Given the description of an element on the screen output the (x, y) to click on. 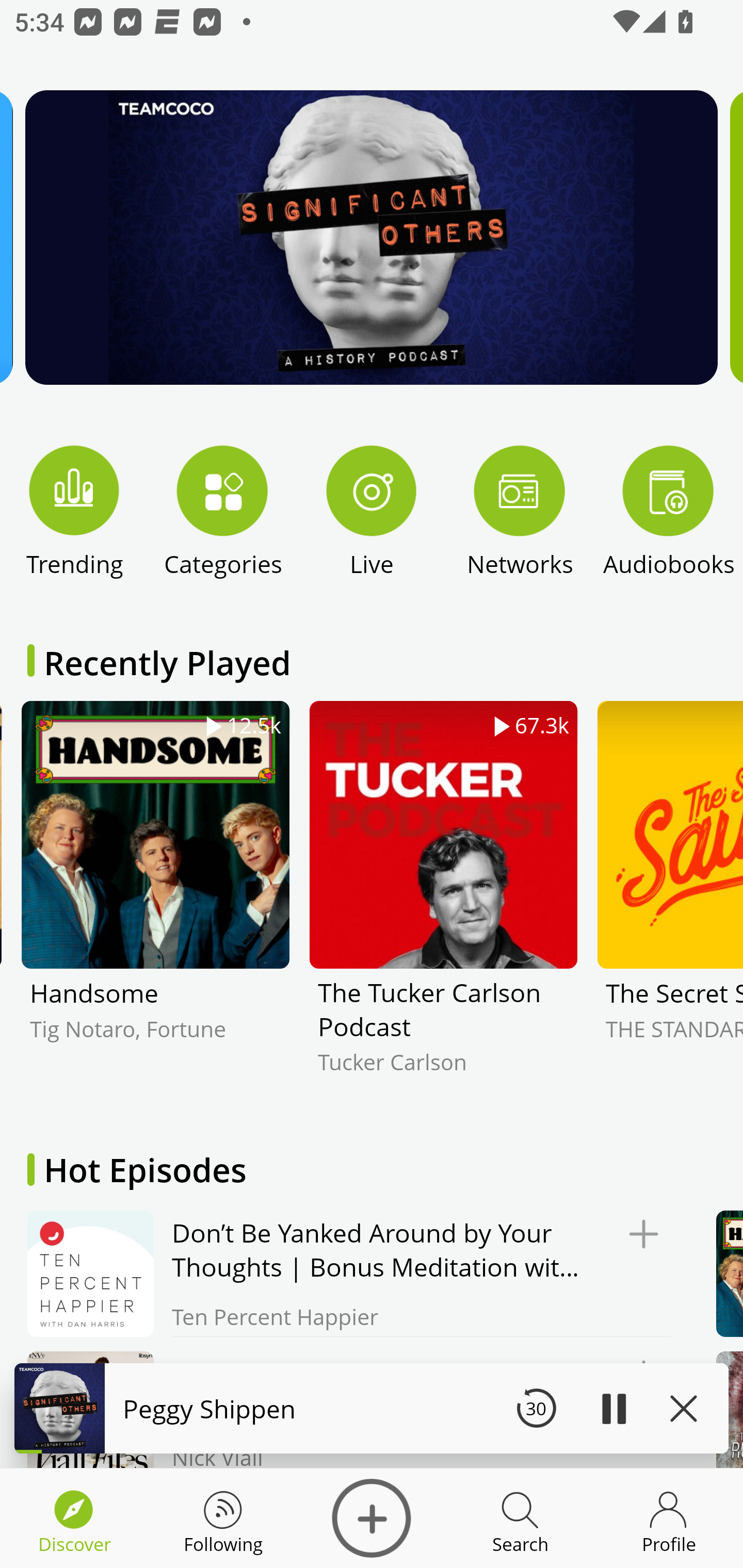
67.3k The Tucker Carlson Podcast Tucker Carlson (443, 902)
The Secret Sauce THE STANDARD (669, 902)
Play (613, 1407)
30 Seek Backward (536, 1407)
Discover Following (222, 1518)
Discover (371, 1518)
Discover Search (519, 1518)
Discover Profile (668, 1518)
